Given the description of an element on the screen output the (x, y) to click on. 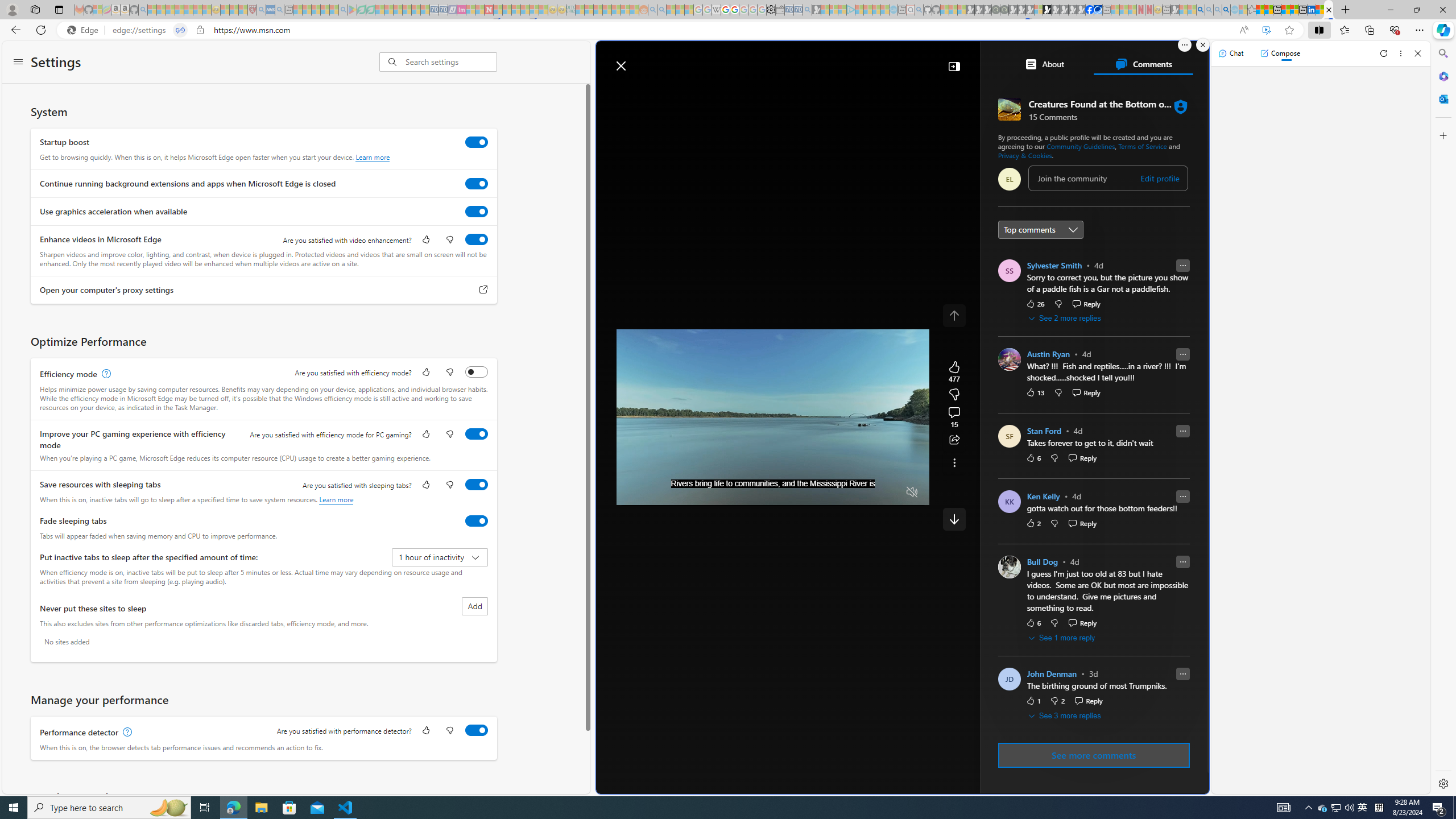
Aberdeen, Hong Kong SAR weather forecast | Microsoft Weather (1268, 9)
Nordace | Facebook (1089, 9)
Pause (633, 492)
Sort comments by (1040, 229)
Terms of Service (1142, 145)
Efficiency mode (476, 371)
Seek Back (656, 492)
Seek Forward (679, 492)
